Given the description of an element on the screen output the (x, y) to click on. 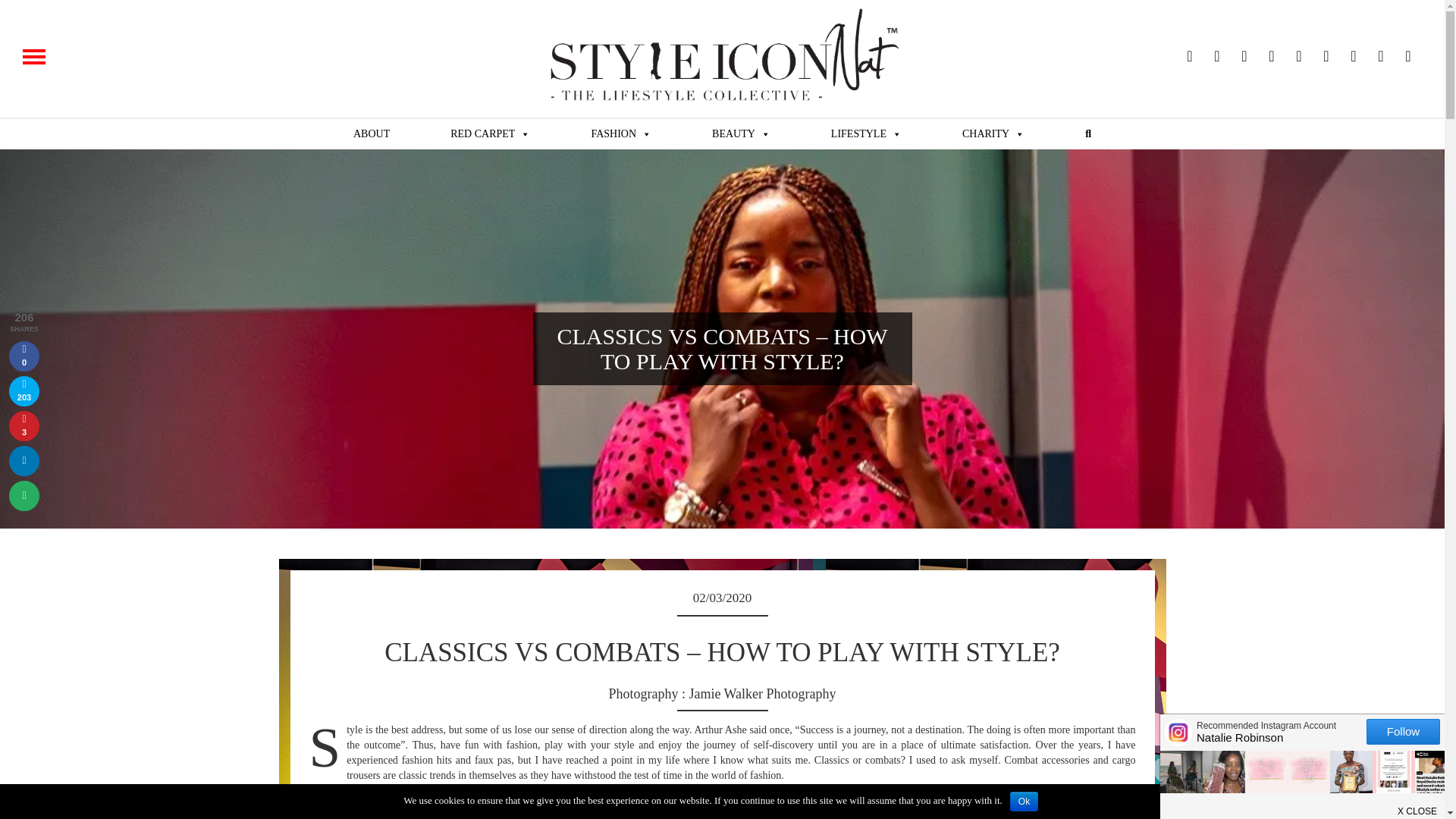
ABOUT (371, 133)
RED CARPET (490, 133)
FASHION (620, 133)
